Given the description of an element on the screen output the (x, y) to click on. 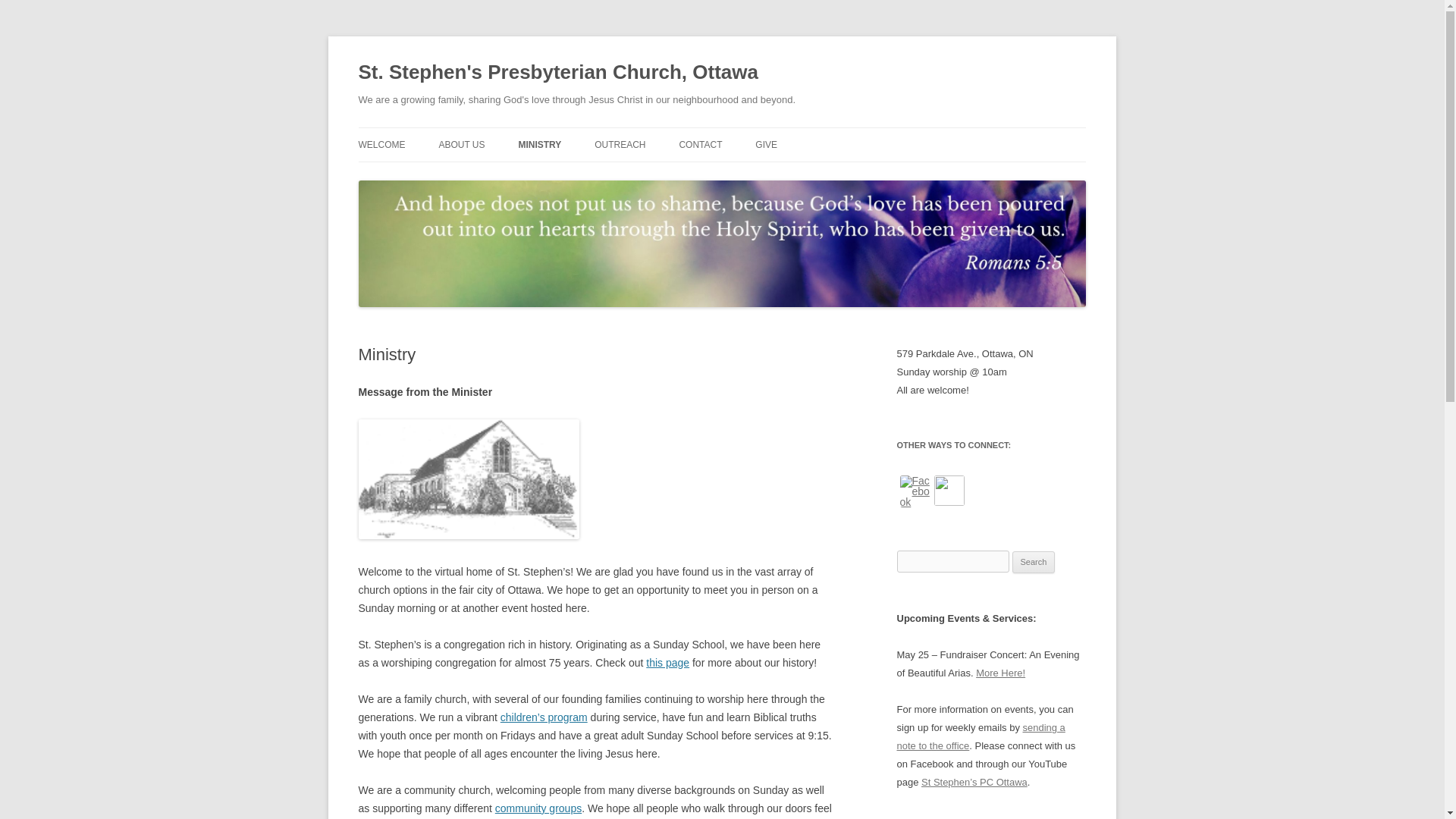
SUPPORT OUR REFUGEE SPONSORSHIP FUND! (831, 185)
St. Stephen's Presbyterian Church, Ottawa (557, 72)
ABOUT US (461, 144)
HISTORY (513, 176)
COMMUNITY PARTNERS (669, 176)
CONTACT (700, 144)
Facebook (914, 490)
AUDIO MESSAGES (593, 176)
MINISTRY (539, 144)
sending a note to the office (980, 736)
